Given the description of an element on the screen output the (x, y) to click on. 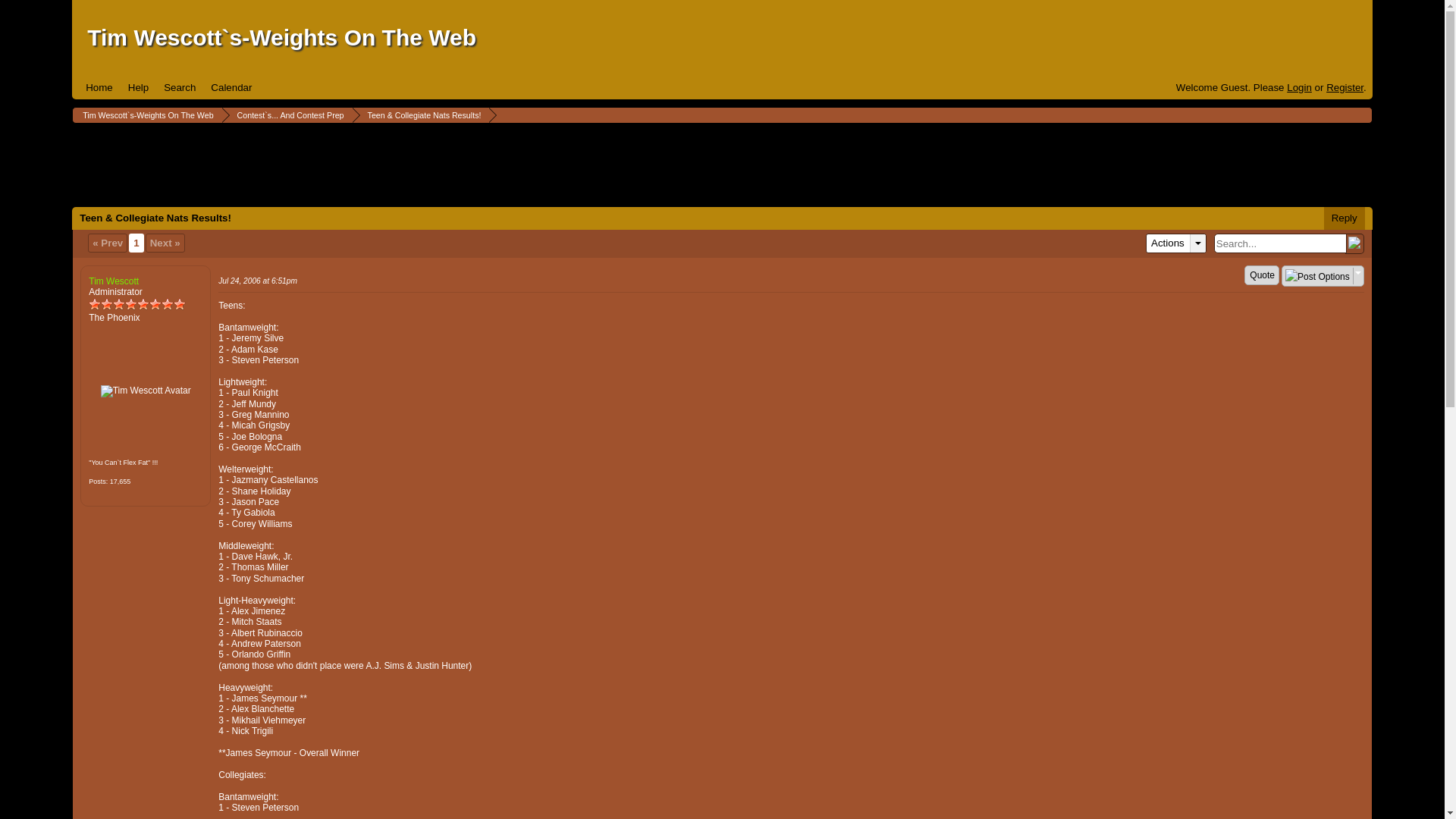
Search (179, 87)
Post Options (1317, 276)
Login (1299, 87)
Help (137, 87)
Tim Wescott (145, 390)
Home (99, 87)
Register (1344, 87)
Calendar (231, 87)
